Given the description of an element on the screen output the (x, y) to click on. 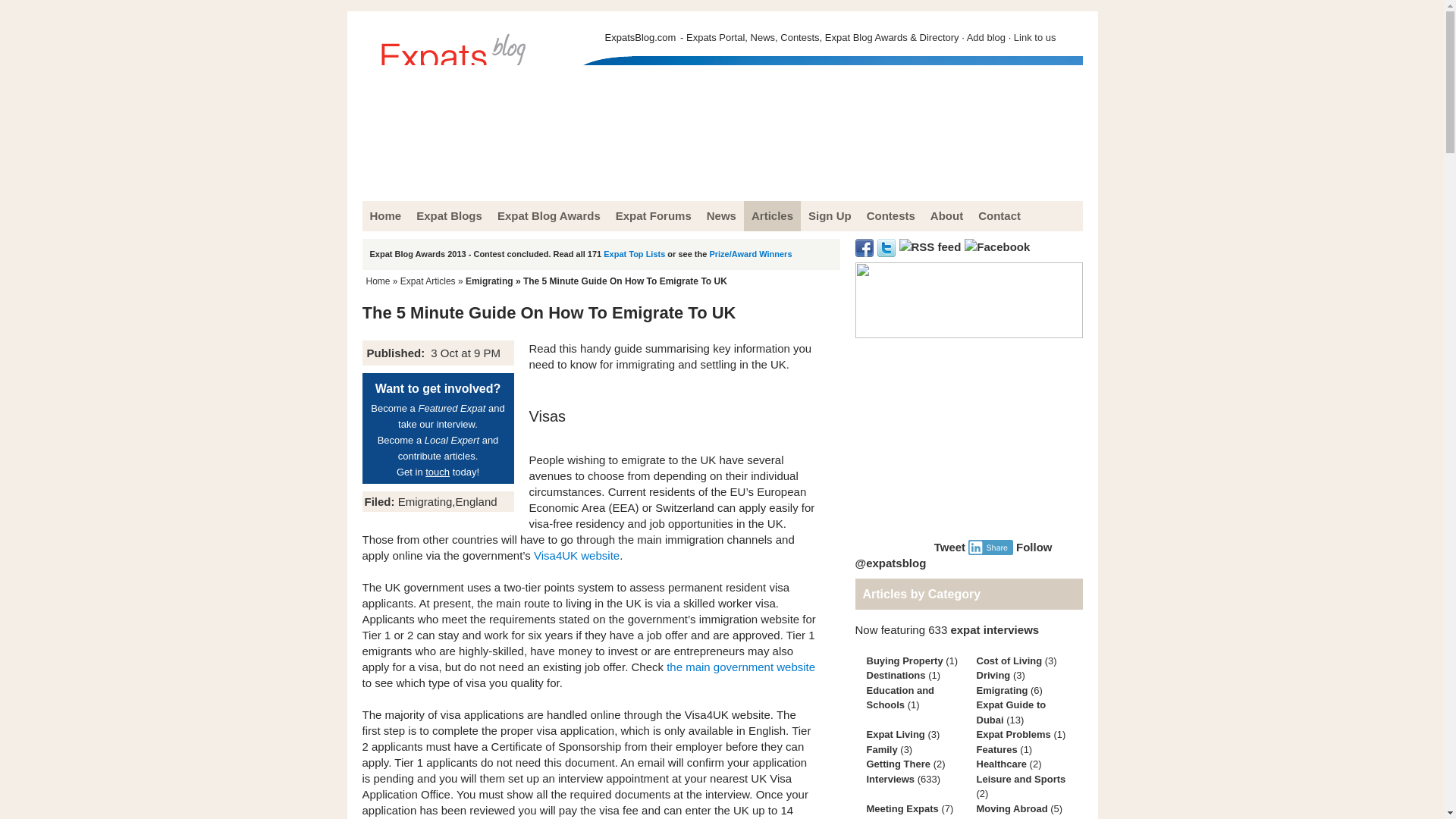
Visa4UK website (577, 554)
Expat Blog Awards (548, 215)
touch (437, 471)
Expat Articles (427, 281)
Contact (999, 215)
Expat Forums (653, 215)
About (947, 215)
Expat Top Lists (634, 253)
Expat Blogs (449, 215)
Tweet (949, 545)
Home (377, 281)
Home (385, 215)
News (721, 215)
Articles (772, 215)
Sign Up (829, 215)
